Given the description of an element on the screen output the (x, y) to click on. 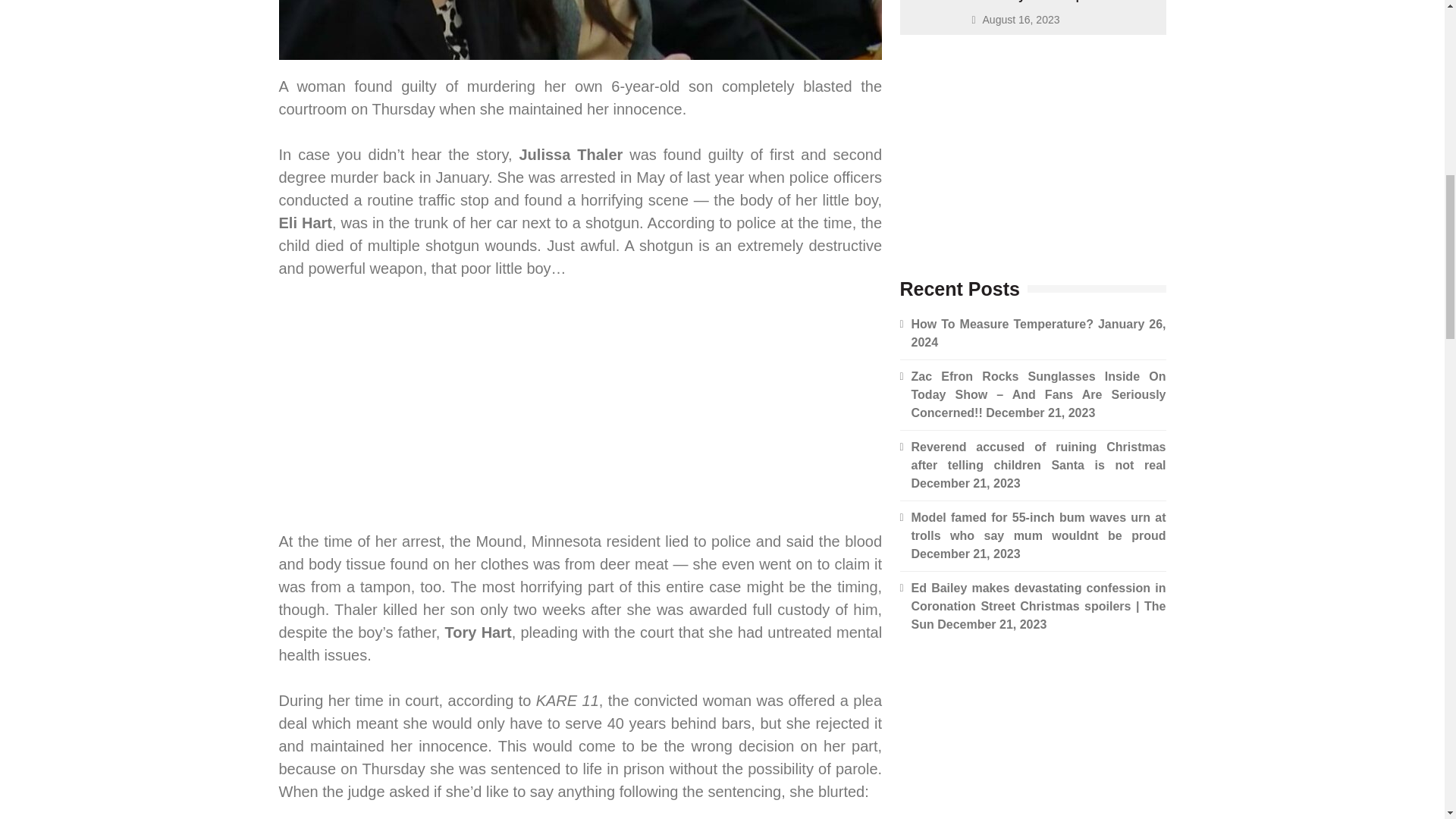
August 16, 2023 (1020, 19)
Advertisement (580, 408)
How To Measure Temperature? (1002, 323)
Advertisement (1032, 148)
